Given the description of an element on the screen output the (x, y) to click on. 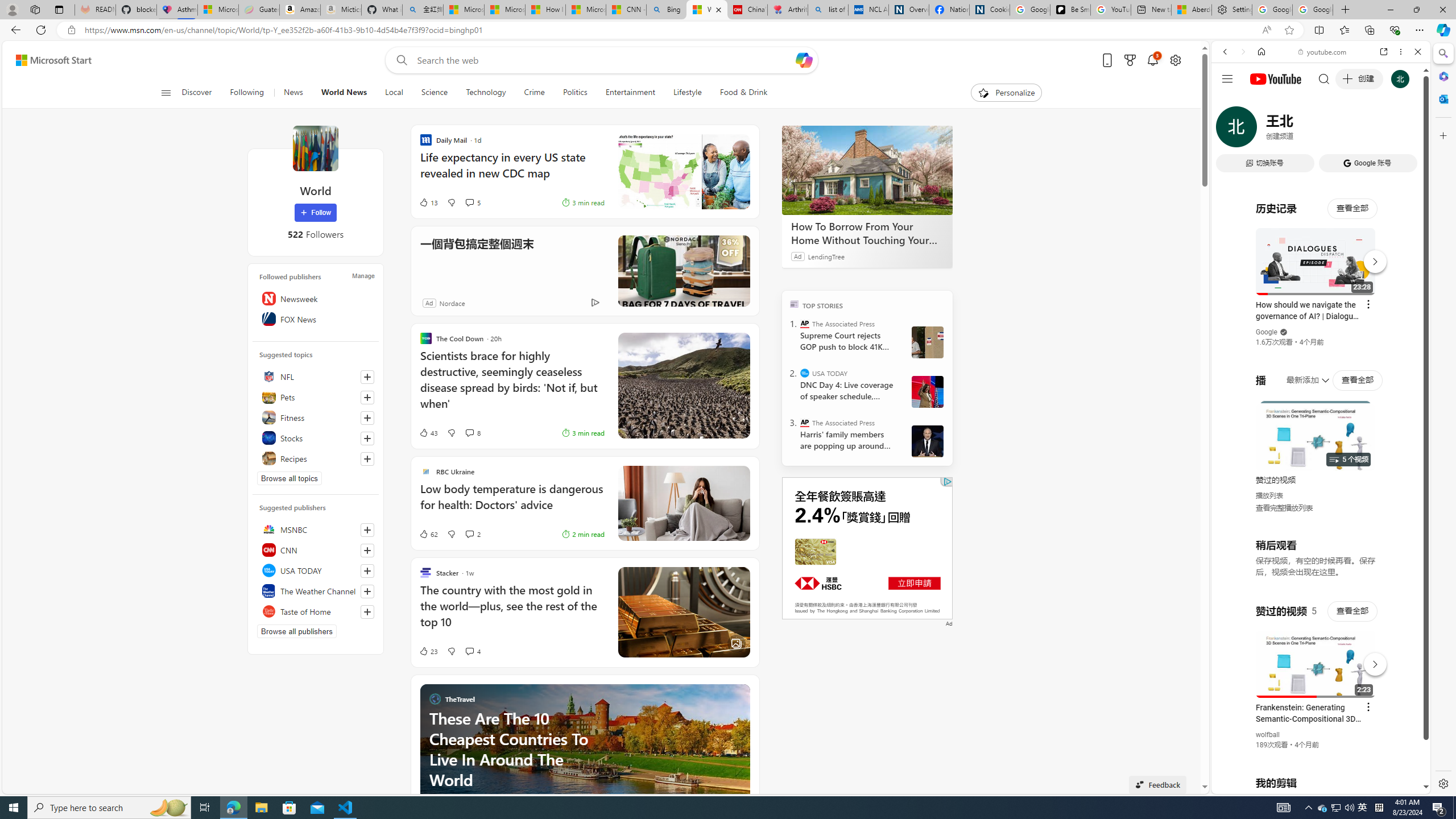
View comments 4 Comment (469, 651)
Class: qc-adchoices-link top-right  (946, 481)
The Weather Channel (315, 590)
23 Like (427, 650)
